Given the description of an element on the screen output the (x, y) to click on. 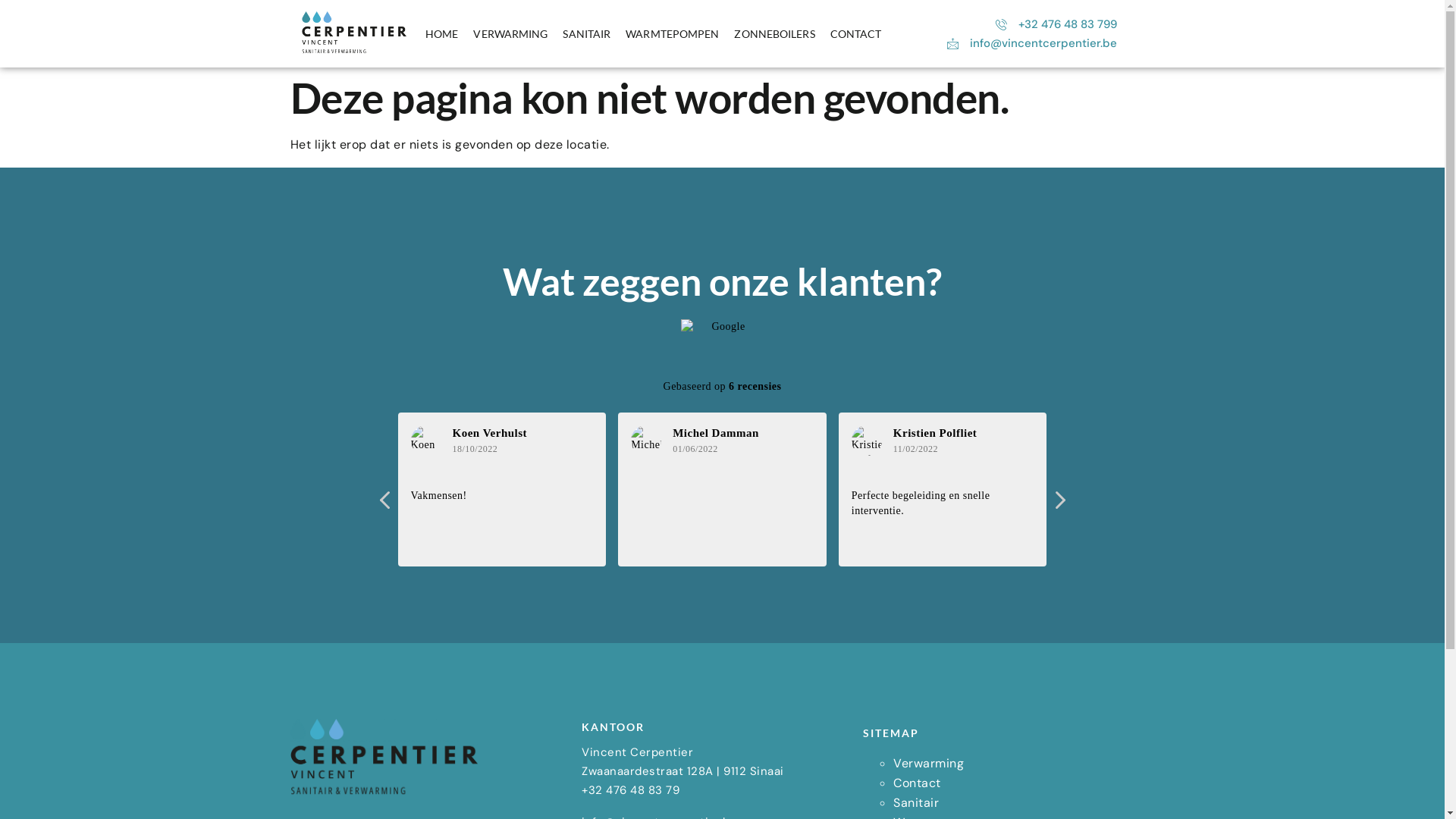
info@vincentcerpentier.be Element type: text (1030, 43)
WARMTEPOMPEN Element type: text (672, 33)
Verwarming Element type: text (928, 763)
Sanitair Element type: text (915, 802)
Contact Element type: text (917, 782)
ZONNEBOILERS Element type: text (774, 33)
CONTACT Element type: text (855, 33)
VERWARMING Element type: text (510, 33)
SANITAIR Element type: text (586, 33)
HOME Element type: text (441, 33)
+32 476 48 83 799 Element type: text (1054, 24)
